Given the description of an element on the screen output the (x, y) to click on. 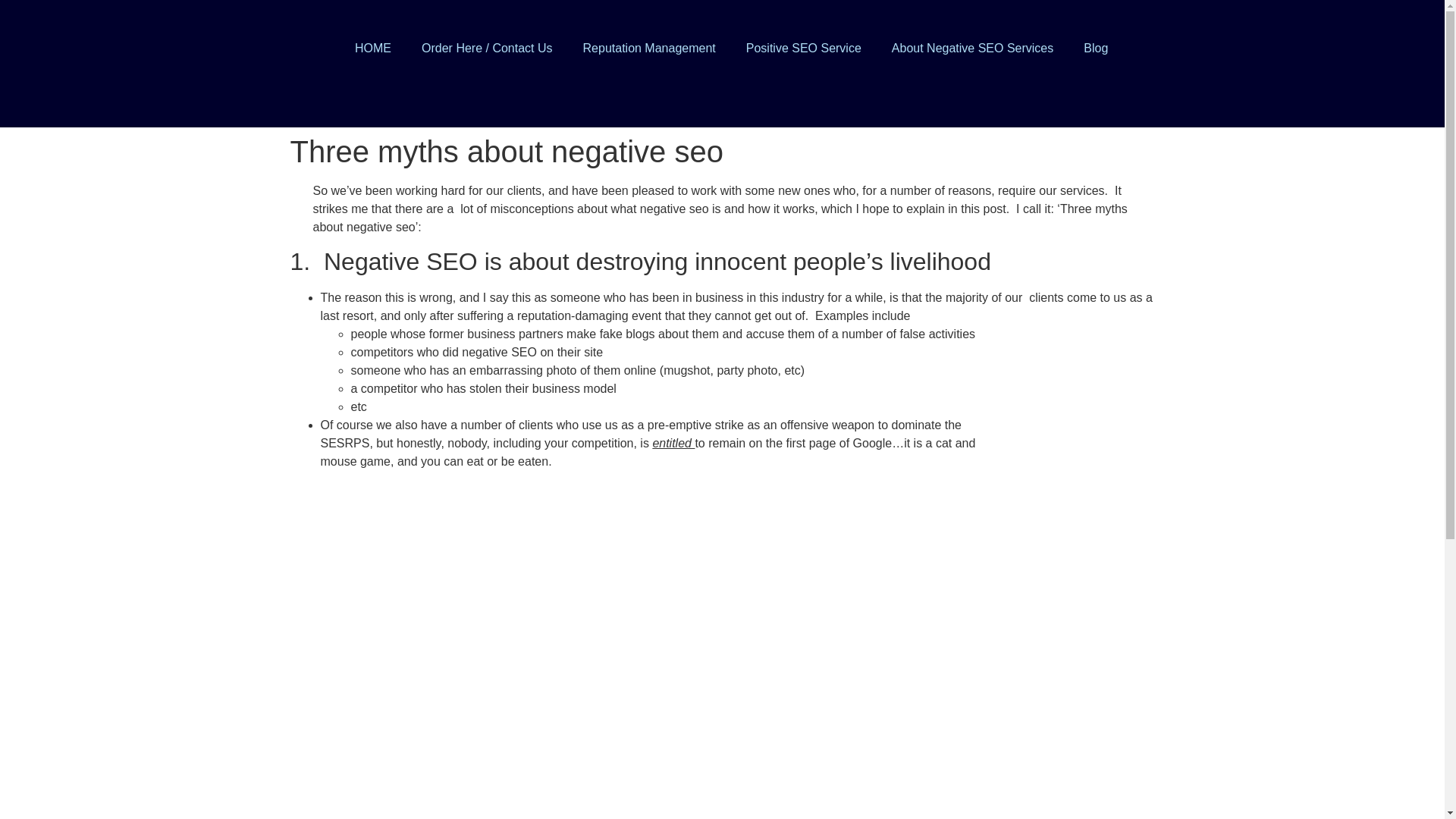
Reputation Management (648, 48)
Positive SEO Service (803, 48)
About Negative SEO Services (972, 48)
Blog (1095, 48)
HOME (372, 48)
